Given the description of an element on the screen output the (x, y) to click on. 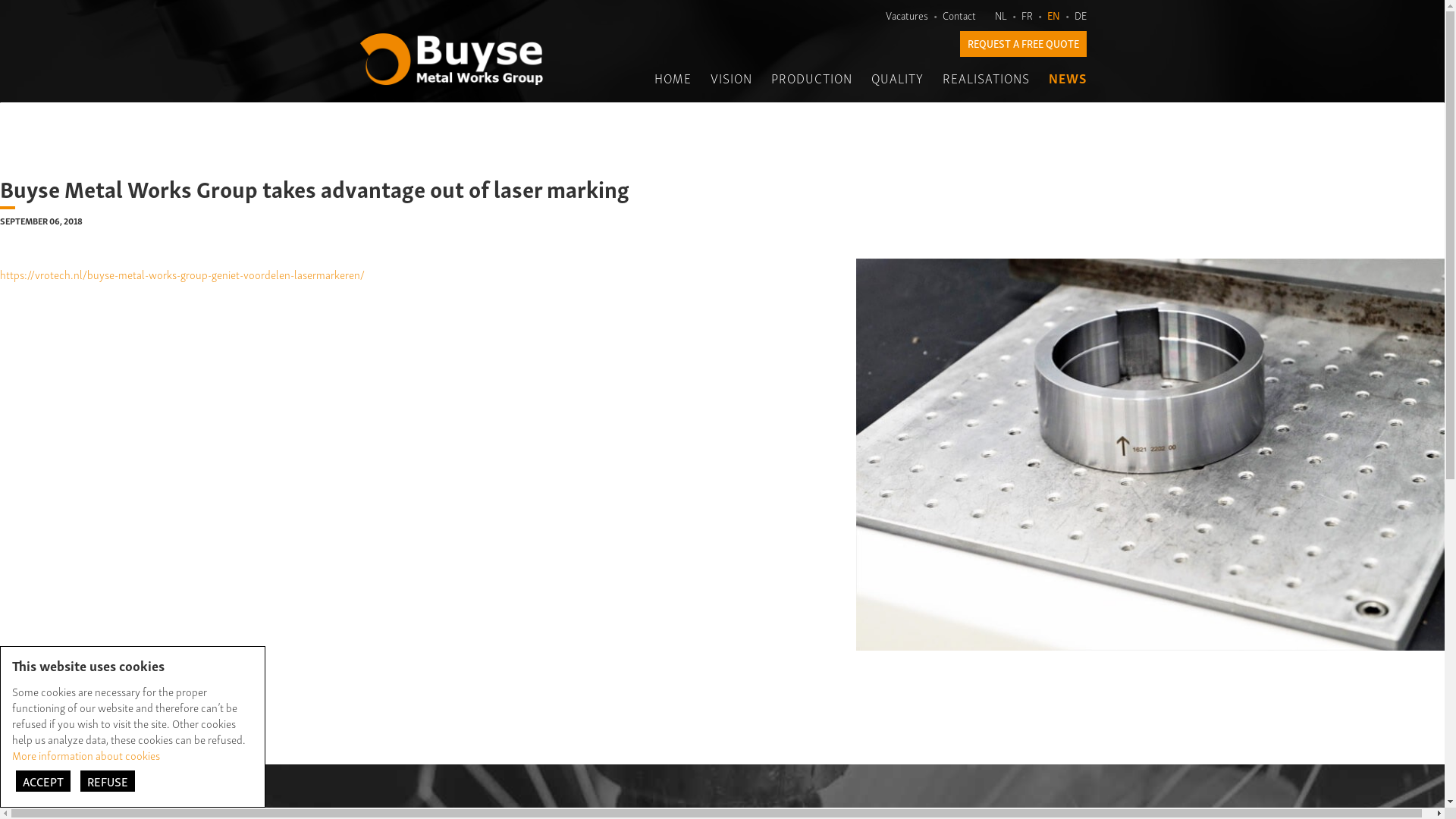
More information about cookies Element type: text (86, 754)
REALISATIONS Element type: text (985, 77)
REQUEST A FREE QUOTE Element type: text (1023, 43)
DE Element type: text (1079, 14)
VISION Element type: text (730, 77)
Buyse - Metal Works Group Element type: hover (450, 59)
NEWS Element type: text (1066, 77)
EN Element type: text (1052, 14)
PRODUCTION Element type: text (810, 77)
QUALITY Element type: text (896, 77)
FR Element type: text (1026, 14)
Vacatures Element type: text (906, 14)
REFUSE Element type: text (107, 780)
HOME Element type: text (671, 77)
ACCEPT Element type: text (42, 780)
NL Element type: text (1000, 14)
Contact Element type: text (958, 14)
